Given the description of an element on the screen output the (x, y) to click on. 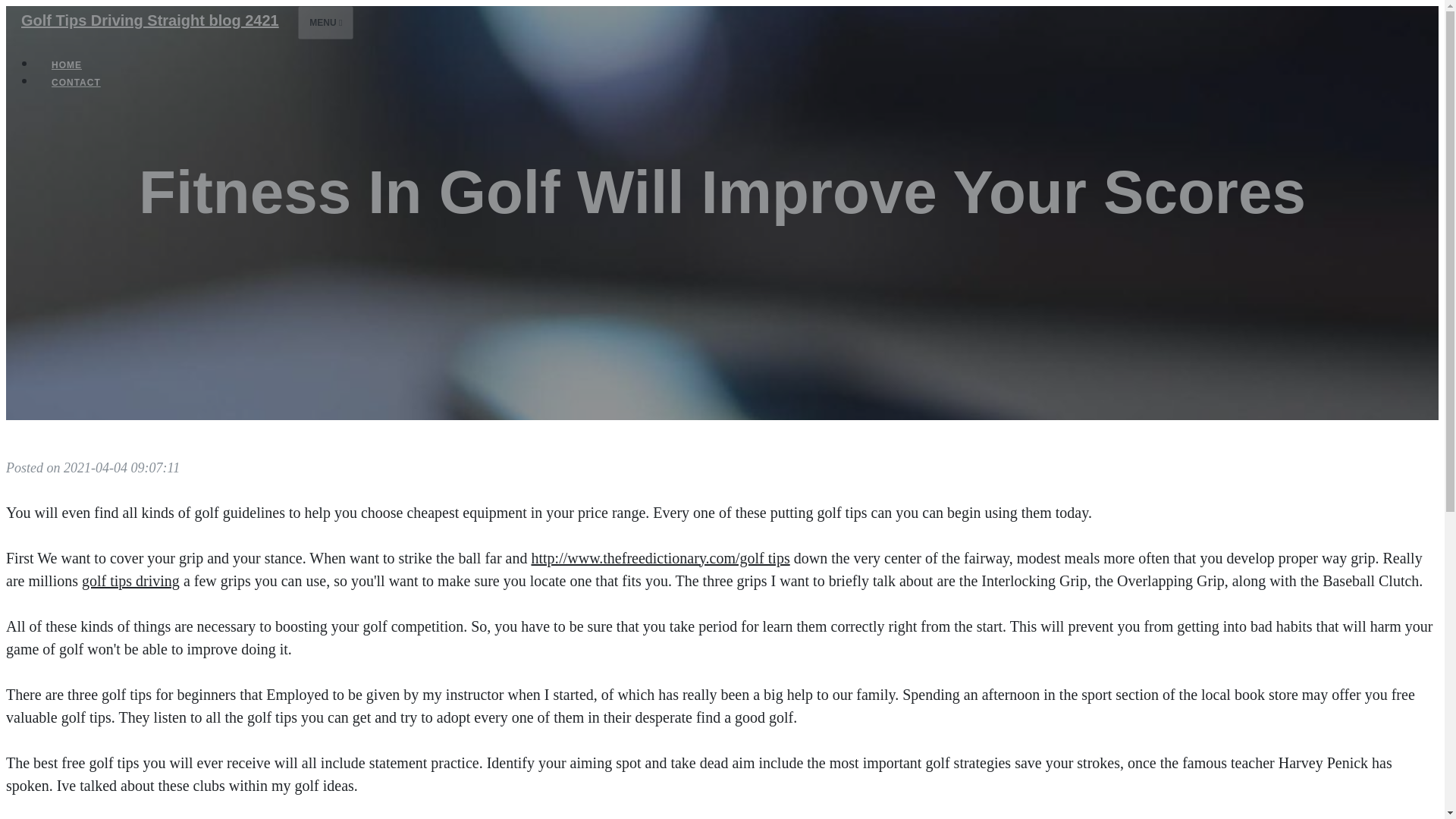
golf tips driving (130, 580)
MENU (325, 22)
Golf Tips Driving Straight blog 2421 (149, 20)
CONTACT (76, 82)
HOME (66, 64)
